Given the description of an element on the screen output the (x, y) to click on. 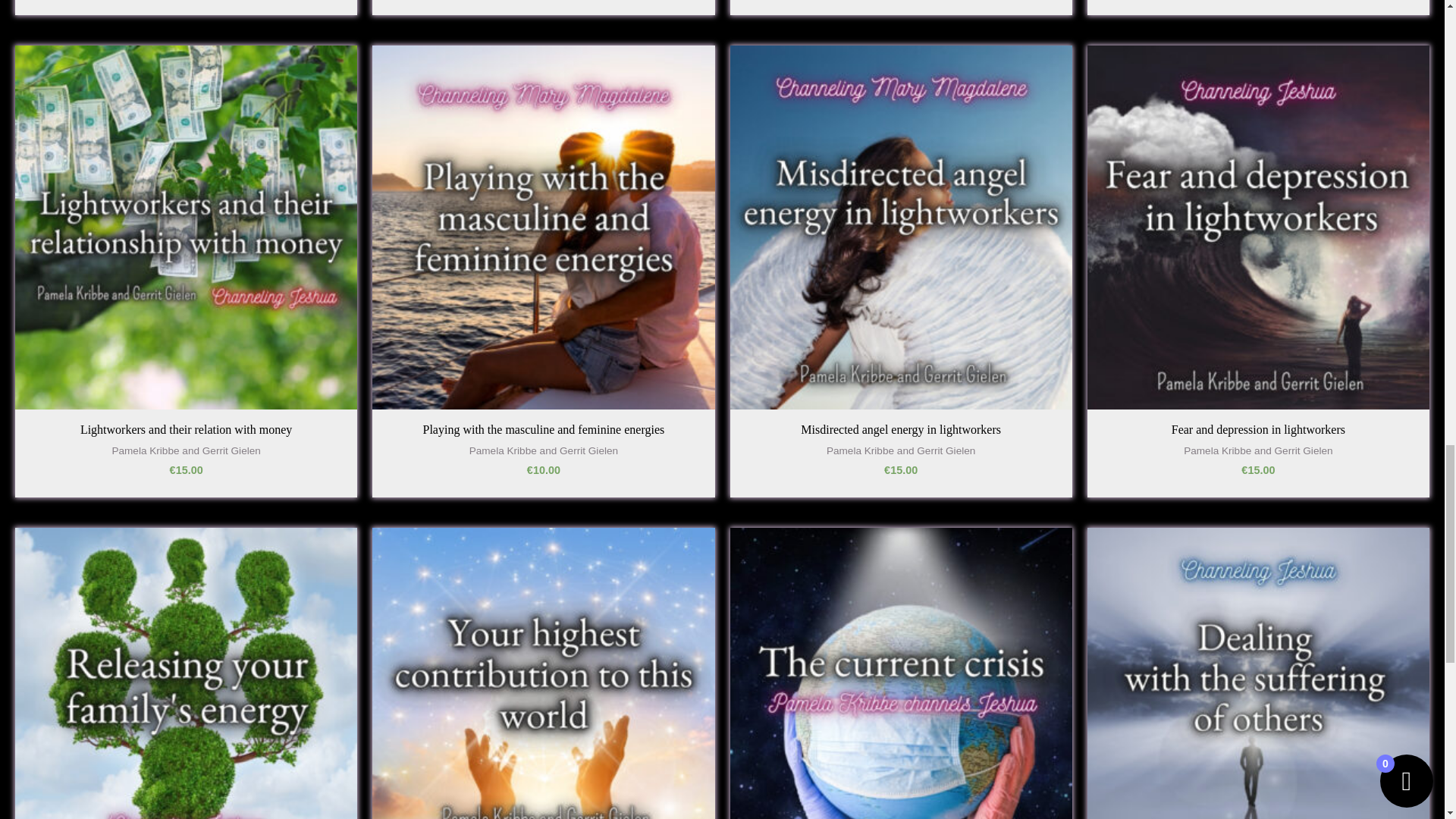
Fear and depression in lightworkers (1258, 433)
Playing with the masculine and feminine energies (544, 433)
Misdirected angel energy in lightworkers (900, 433)
Lightworkers and their relation with money (186, 433)
